Given the description of an element on the screen output the (x, y) to click on. 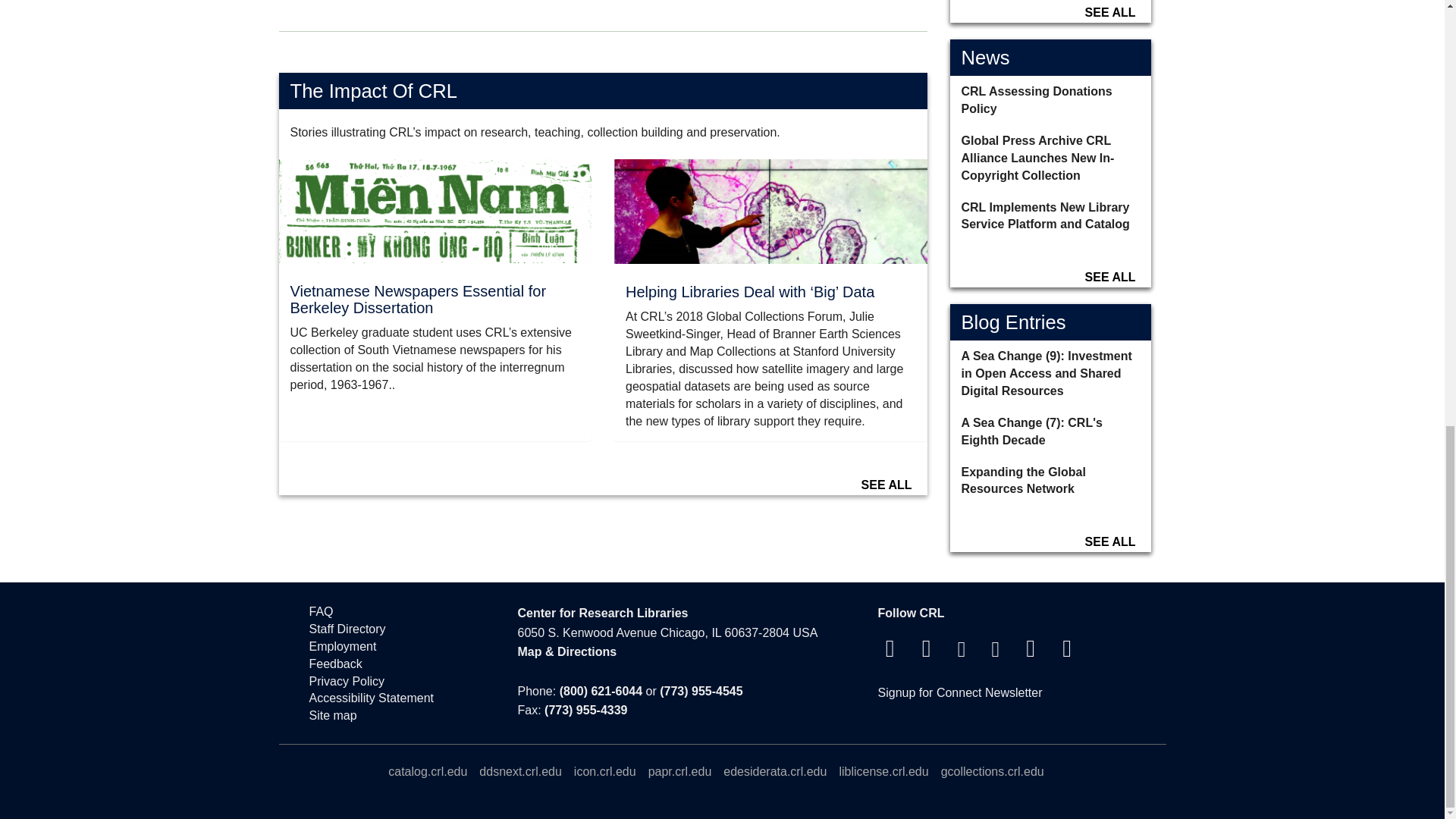
Display a site map with RSS feeds. (397, 715)
Follow CRL on Twitter (926, 652)
Follow CRL on Instagram (961, 652)
Follow CRL on Facebook (889, 652)
